Given the description of an element on the screen output the (x, y) to click on. 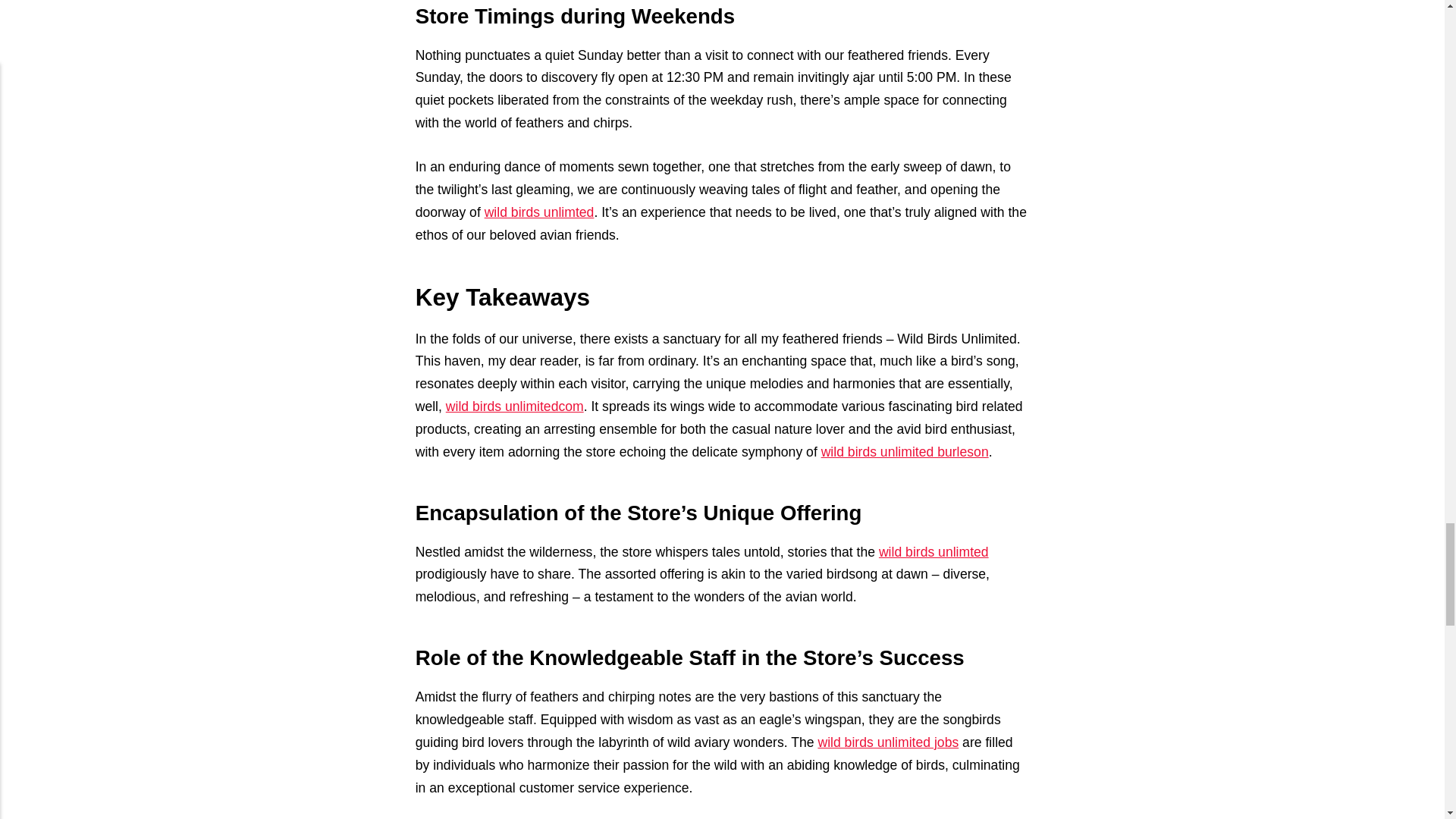
wild birds unlimted (539, 212)
wild birds unlimited burleson (904, 451)
wild birds unlimitedcom (514, 406)
wild birds unlimited jobs (887, 742)
wild birds unlimted (933, 551)
